Given the description of an element on the screen output the (x, y) to click on. 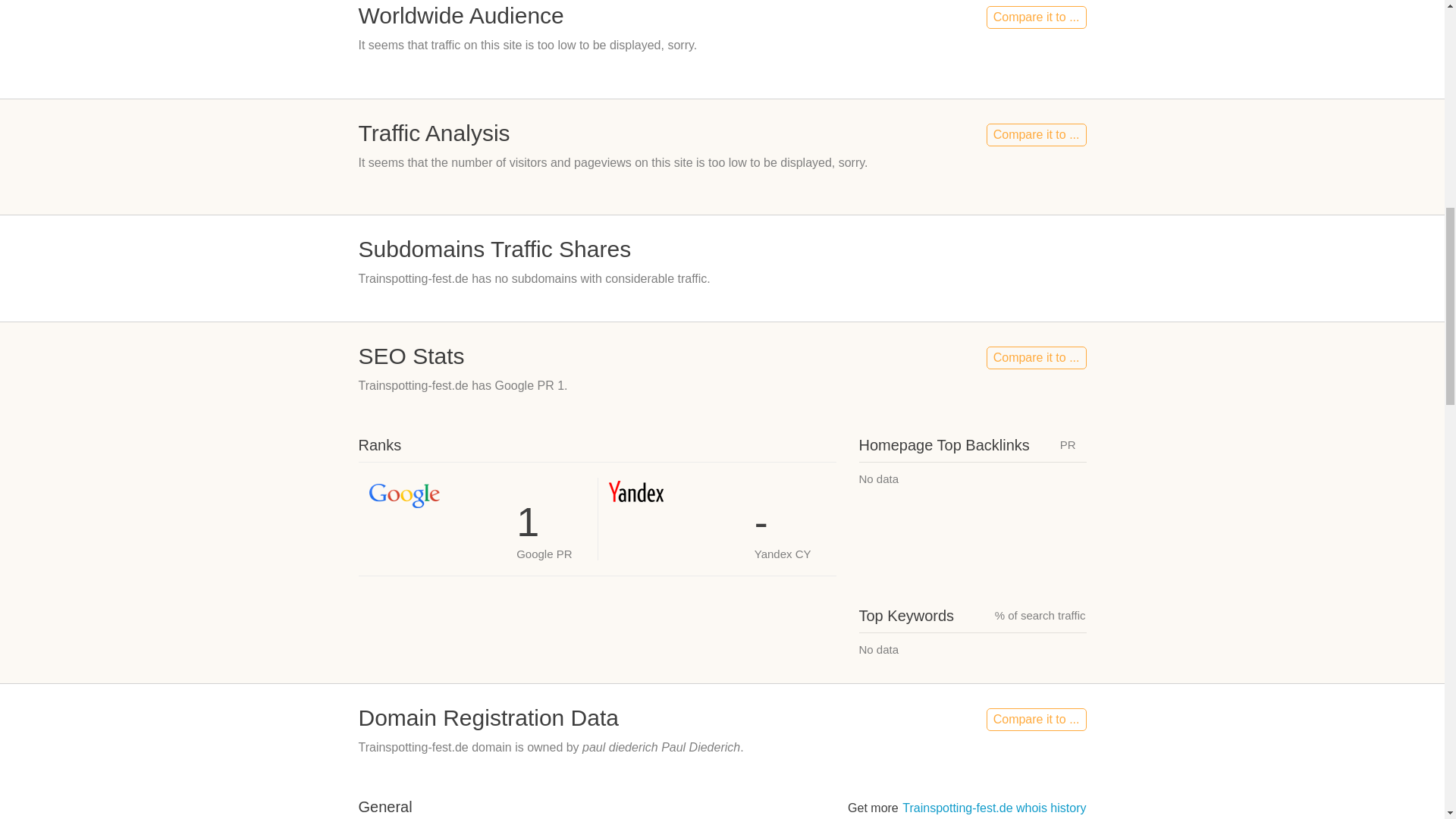
Compare it to ... (1036, 719)
Compare it to ... (1036, 357)
Compare it to ... (1036, 134)
Trainspotting-fest.de whois history (994, 807)
Compare it to ... (1036, 16)
